Given the description of an element on the screen output the (x, y) to click on. 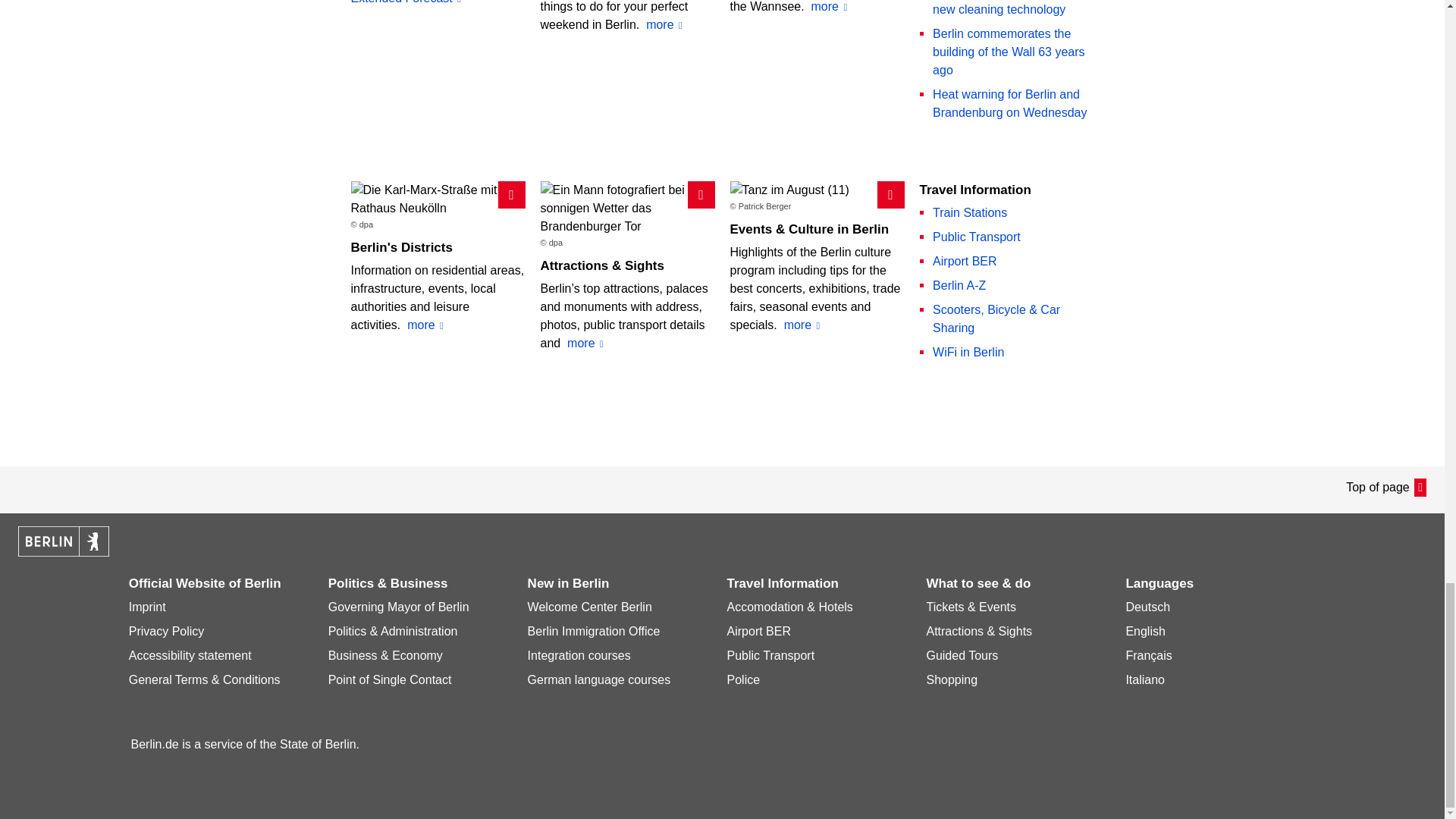
Berlin commemorates the building of the Wall 63 years ago (1008, 51)
more (425, 325)
Berlin's Districts (400, 247)
more (585, 343)
Link zu: Wetter Startseite (437, 3)
more (828, 7)
Extended Forecast (437, 3)
Zur Startseite von Berlin.de (63, 552)
Heat warning for Berlin and Brandenburg on Wednesday (1009, 102)
more (664, 24)
